Given the description of an element on the screen output the (x, y) to click on. 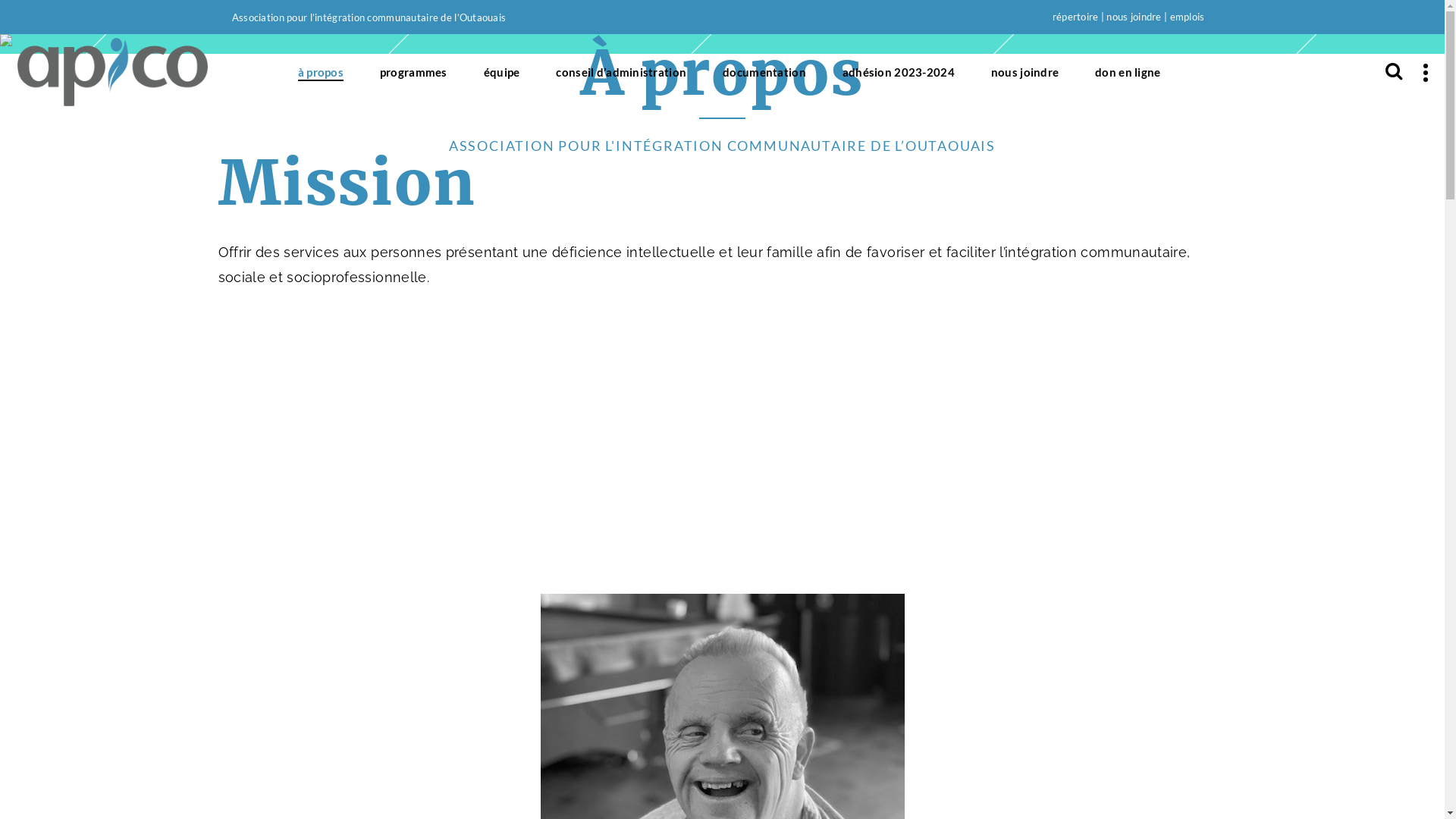
programmes Element type: text (413, 71)
nous joindre | Element type: text (1136, 16)
documentation Element type: text (764, 71)
don en ligne Element type: text (1127, 71)
nous joindre Element type: text (1024, 71)
emplois Element type: text (1187, 16)
